Given the description of an element on the screen output the (x, y) to click on. 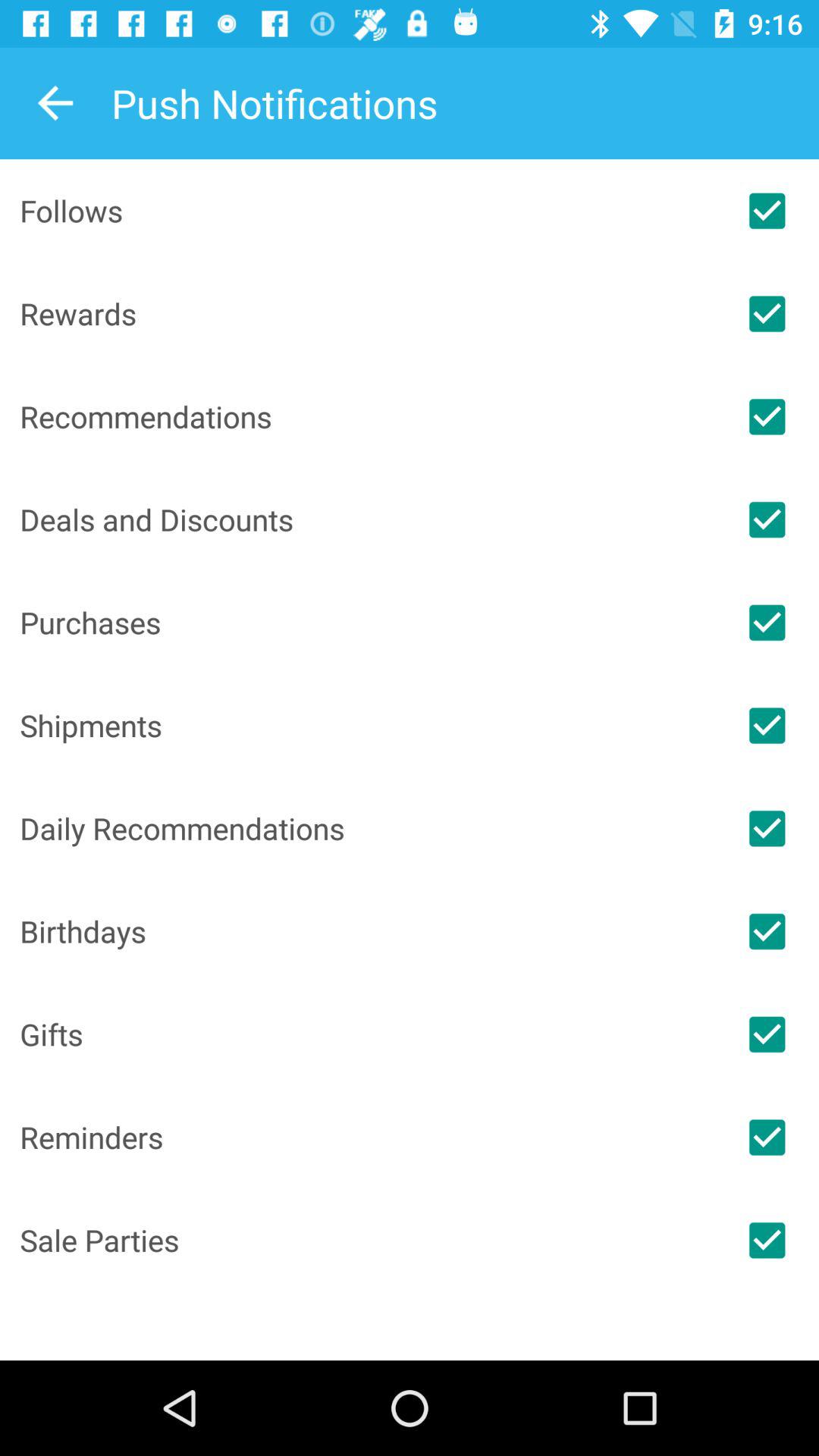
click on rewards option (767, 313)
